Given the description of an element on the screen output the (x, y) to click on. 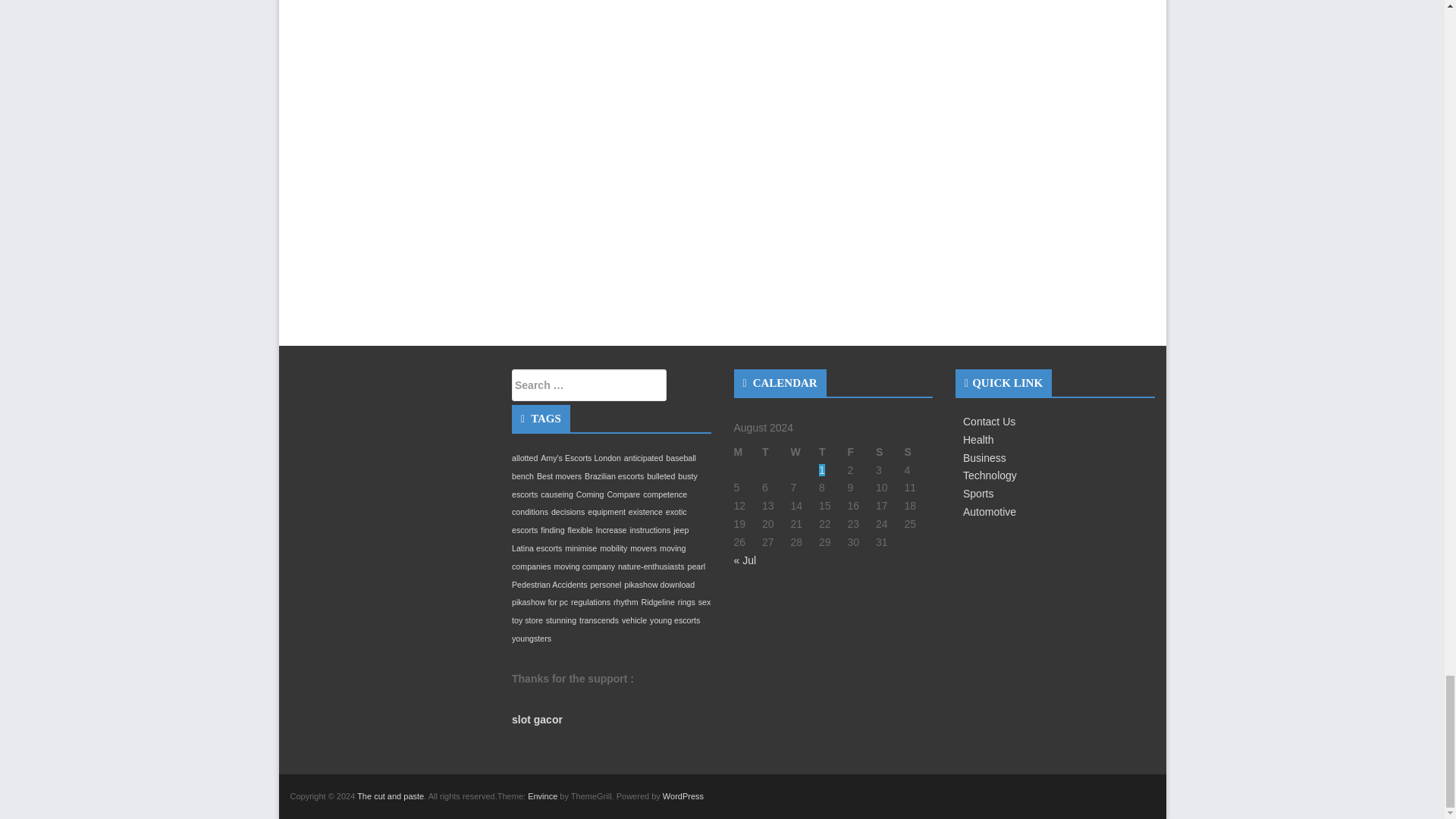
Saturday (890, 452)
Wednesday (804, 452)
Tuesday (775, 452)
Sunday (918, 452)
Thursday (832, 452)
Friday (861, 452)
Monday (747, 452)
